Given the description of an element on the screen output the (x, y) to click on. 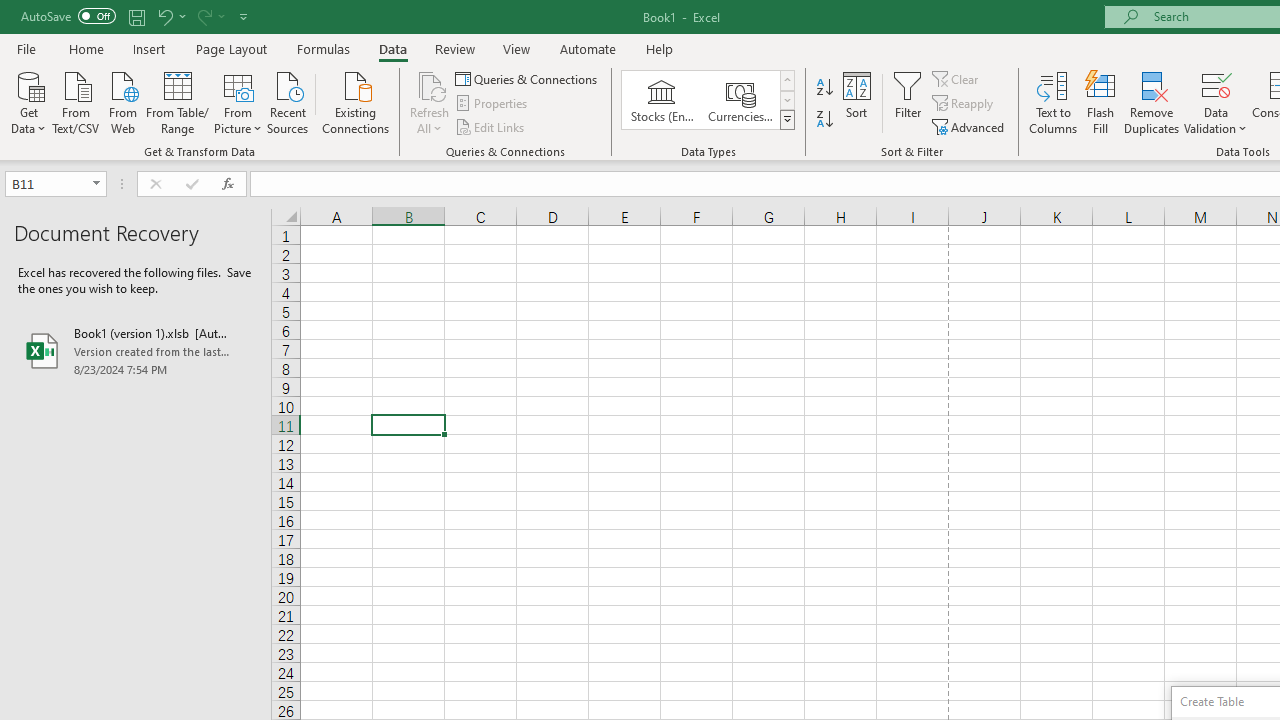
Queries & Connections (527, 78)
From Web (122, 101)
Flash Fill (1101, 102)
Edit Links (491, 126)
From Picture (238, 101)
Properties (492, 103)
Stocks (English) (662, 100)
Get Data (28, 101)
Filter (908, 102)
Remove Duplicates (1151, 102)
Clear (957, 78)
